Given the description of an element on the screen output the (x, y) to click on. 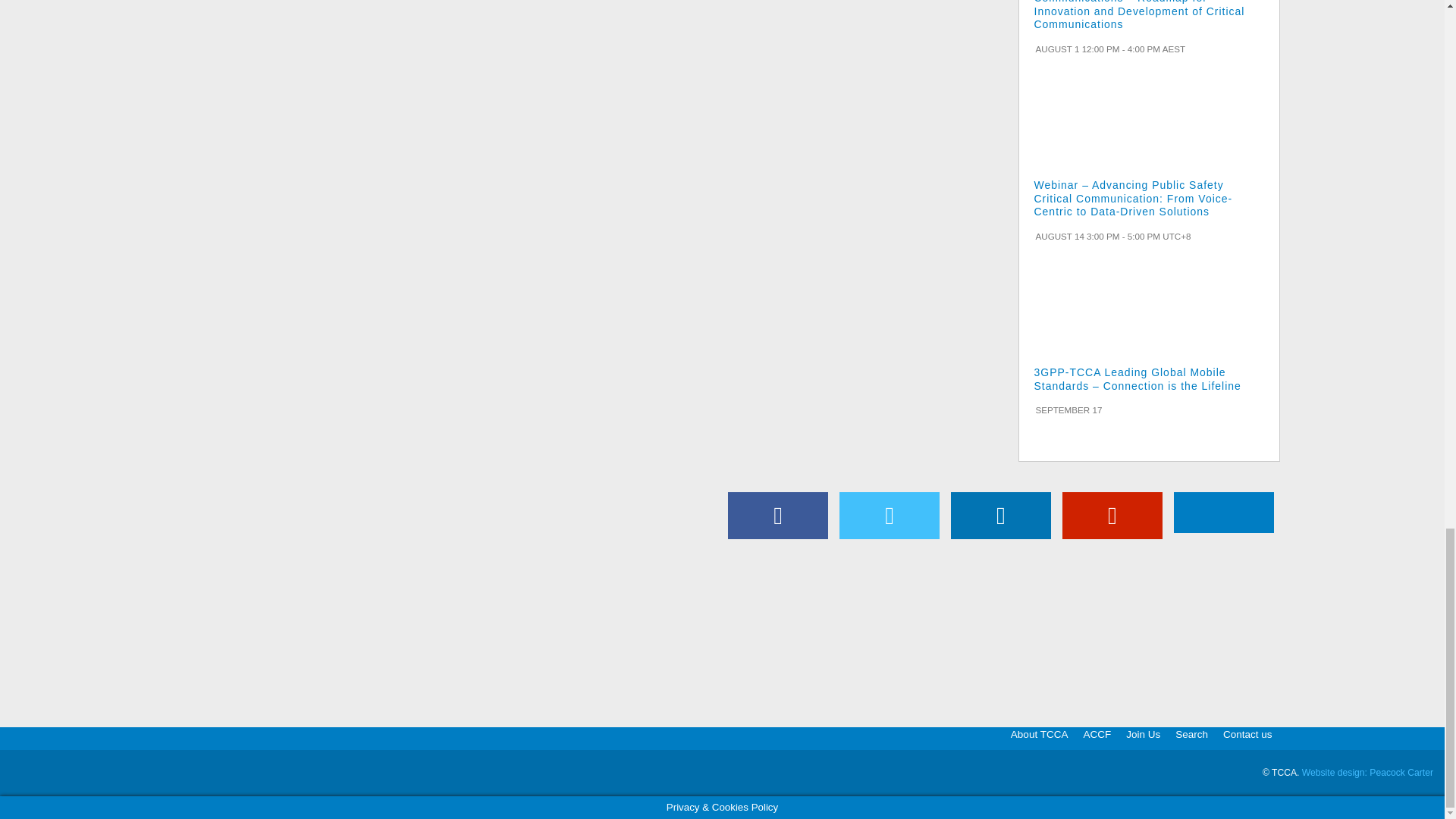
TCCA on Vimeo (1223, 512)
TCCA on YouTube (1111, 515)
TCCA on Twitter (889, 515)
Website design, County Durham, by Peacock Carter (1366, 772)
TCCA on LinkedIn (1000, 515)
TCCA on Facebook (778, 515)
